Given the description of an element on the screen output the (x, y) to click on. 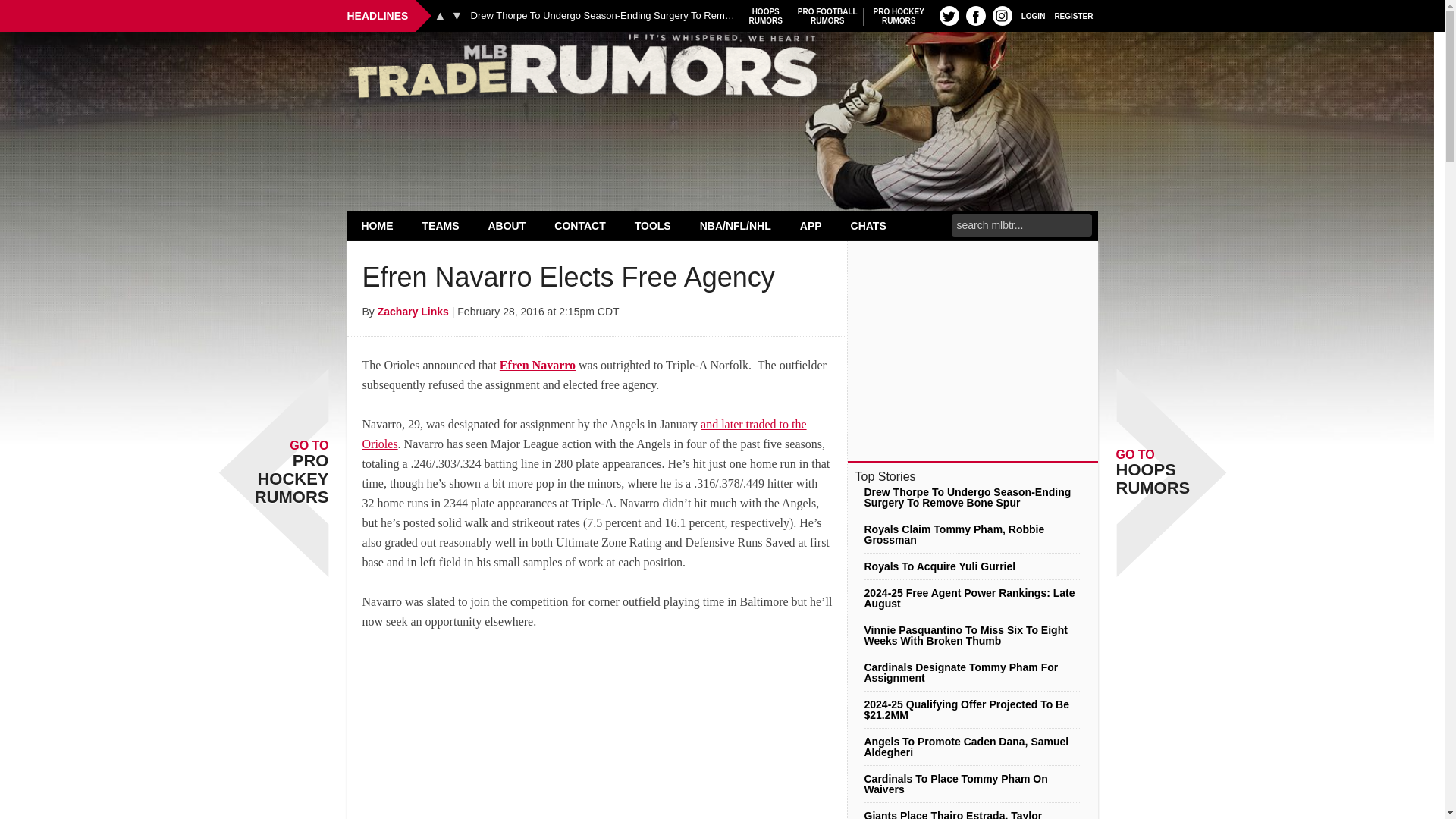
HOME (765, 16)
MLB Trade Rumors (377, 225)
FB profile (722, 69)
Instagram profile (975, 15)
REGISTER (1001, 15)
Next (1073, 15)
LOGIN (827, 16)
